Given the description of an element on the screen output the (x, y) to click on. 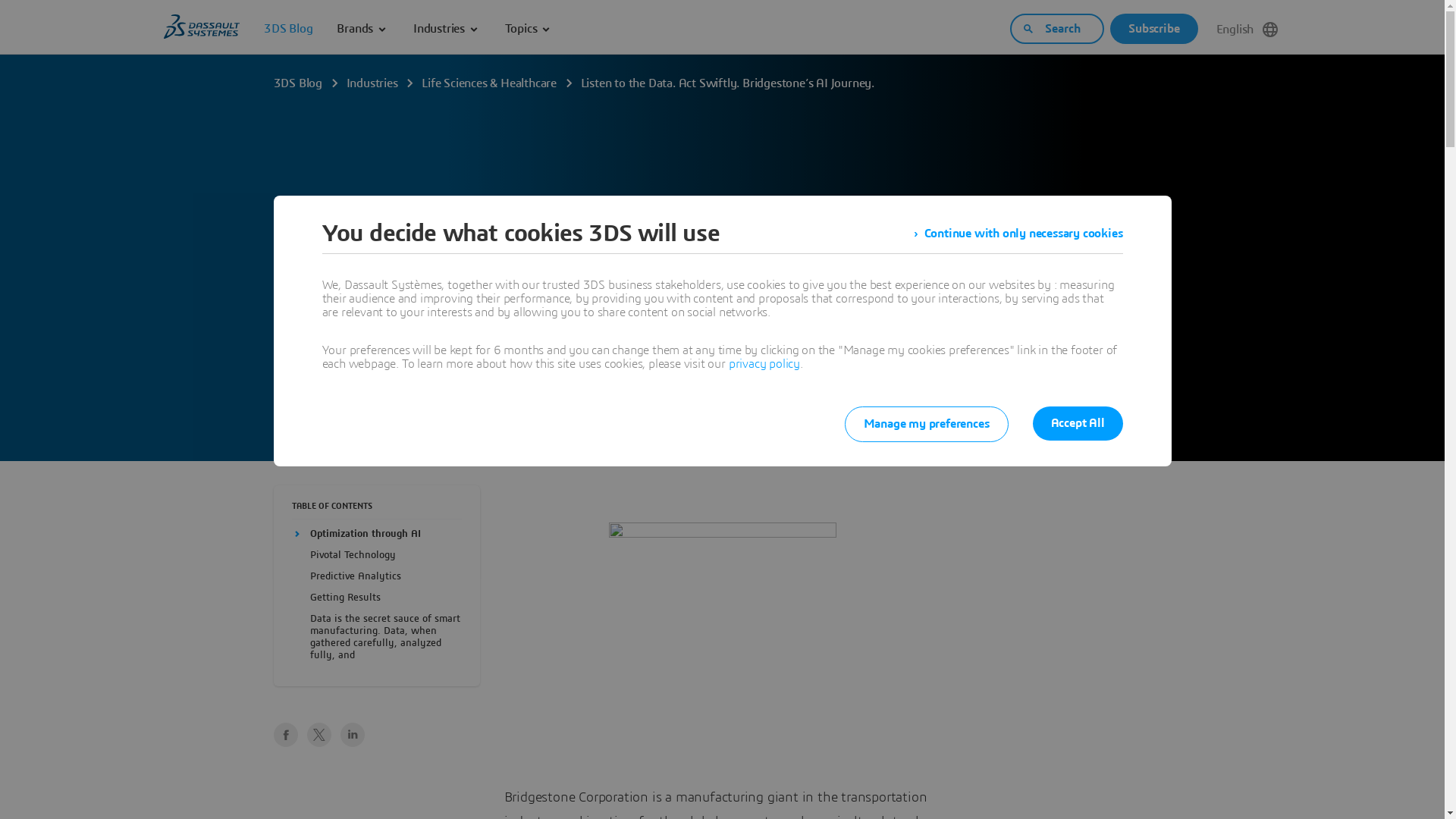
3DS Blog Element type: text (297, 83)
Share on Twitter Element type: hover (318, 734)
Share on Linkedin Element type: hover (351, 734)
privacy policy Element type: text (764, 363)
Brands Element type: text (362, 28)
Subscribe Element type: text (1153, 28)
Optimization through AI Element type: text (364, 534)
Industries Element type: text (372, 83)
3DS Blog Element type: text (287, 28)
Share on Facebook Element type: hover (285, 734)
Predictive Analytics Element type: text (354, 576)
Getting Results Element type: text (344, 597)
Continue with only necessary cookies Element type: text (1018, 233)
Accept All Element type: text (1077, 423)
Topics Element type: text (528, 28)
Manage my preferences Element type: text (926, 424)
Pivotal Technology Element type: text (352, 555)
Life Sciences & Healthcare Element type: text (488, 83)
Industries Element type: text (446, 28)
